Given the description of an element on the screen output the (x, y) to click on. 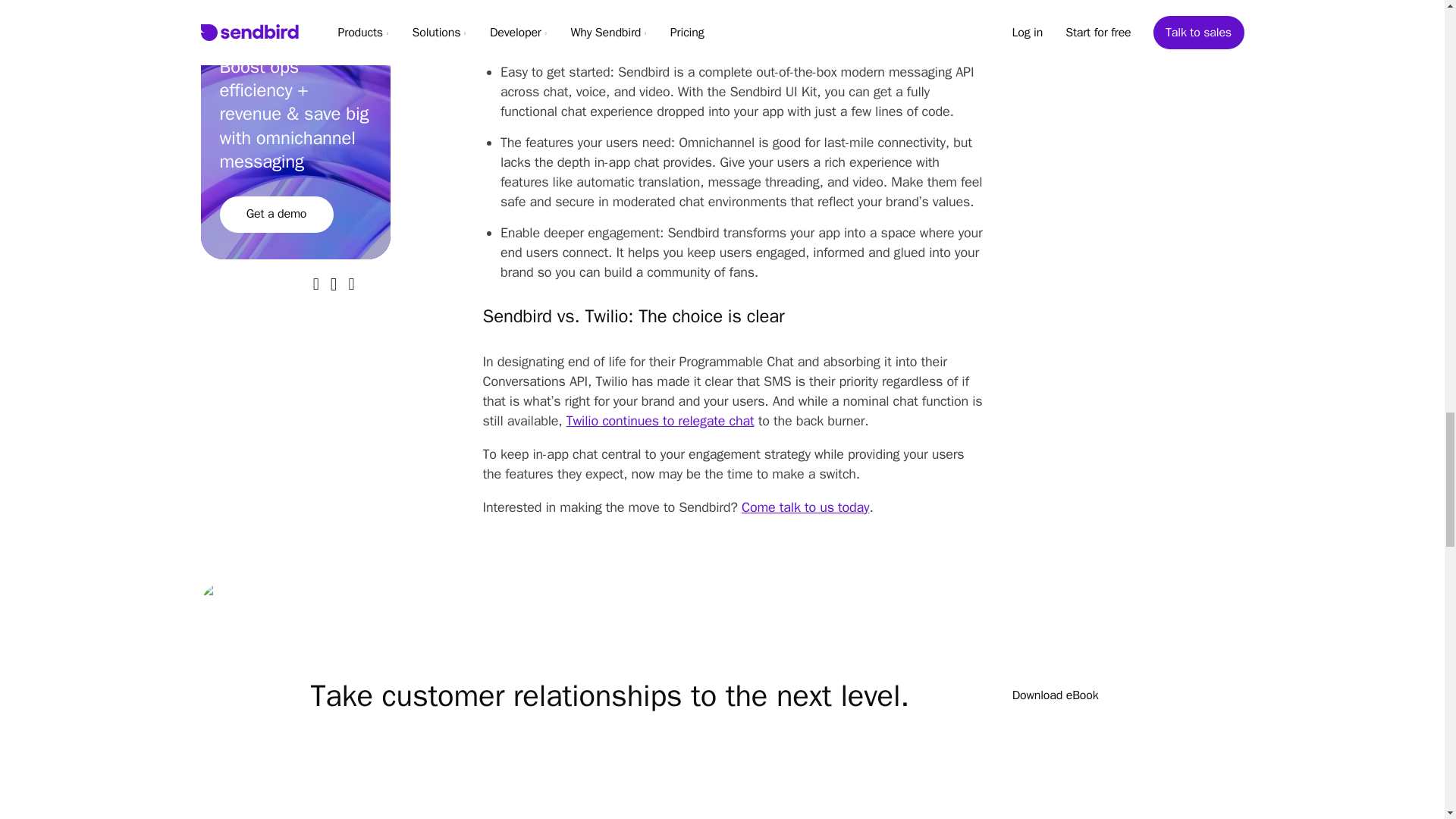
Twilio continues to relegate chat (660, 420)
Come talk to us today (805, 506)
Download eBook (1055, 696)
